Given the description of an element on the screen output the (x, y) to click on. 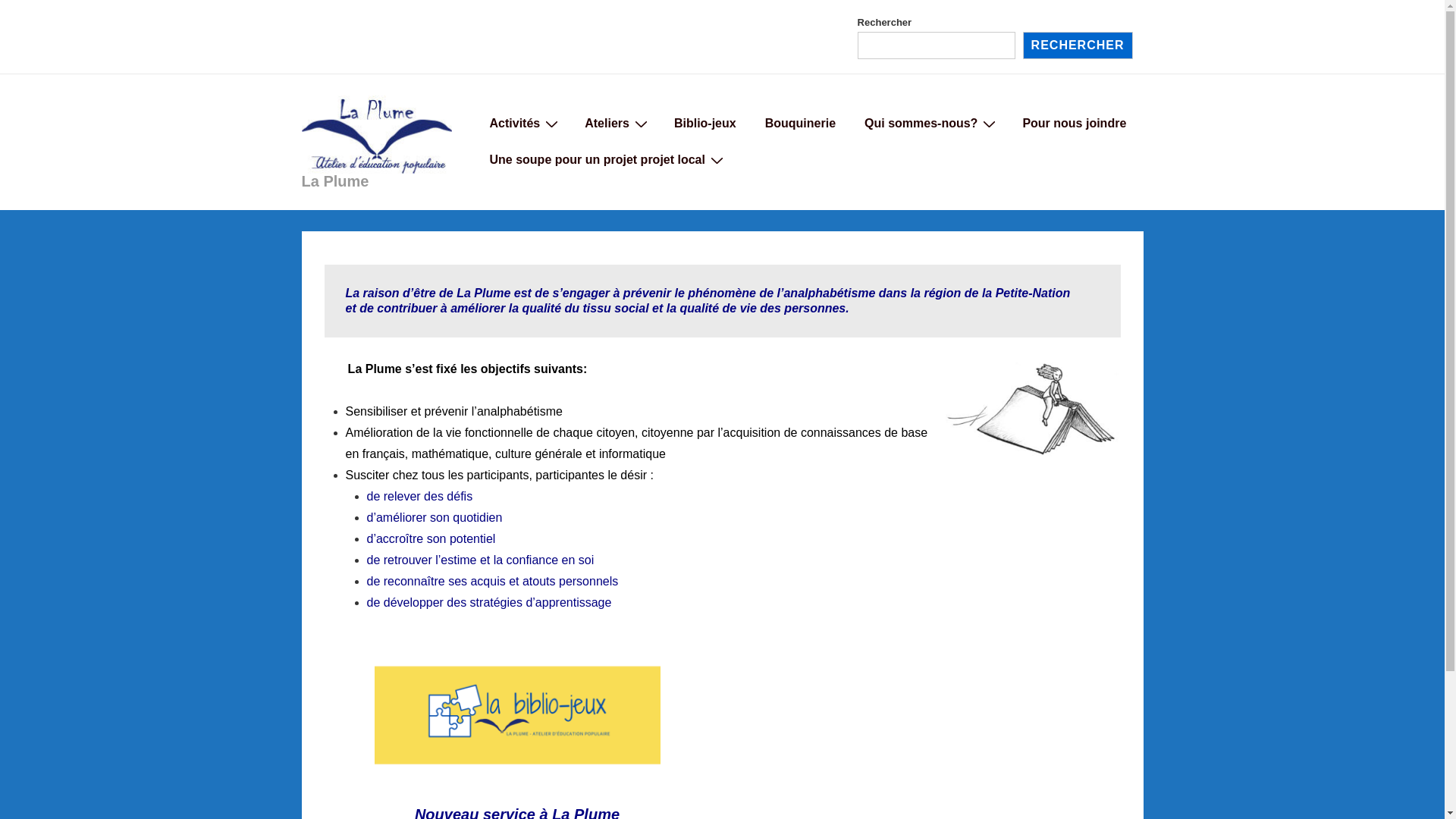
La Plume Element type: text (335, 180)
RECHERCHER Element type: text (1077, 45)
Ateliers Element type: text (614, 123)
Qui sommes-nous? Element type: text (928, 123)
Biblio-jeux Element type: text (704, 123)
Une soupe pour un projet projet local Element type: text (605, 159)
Bouquinerie Element type: text (800, 123)
Pour nous joindre Element type: text (1073, 123)
